Given the description of an element on the screen output the (x, y) to click on. 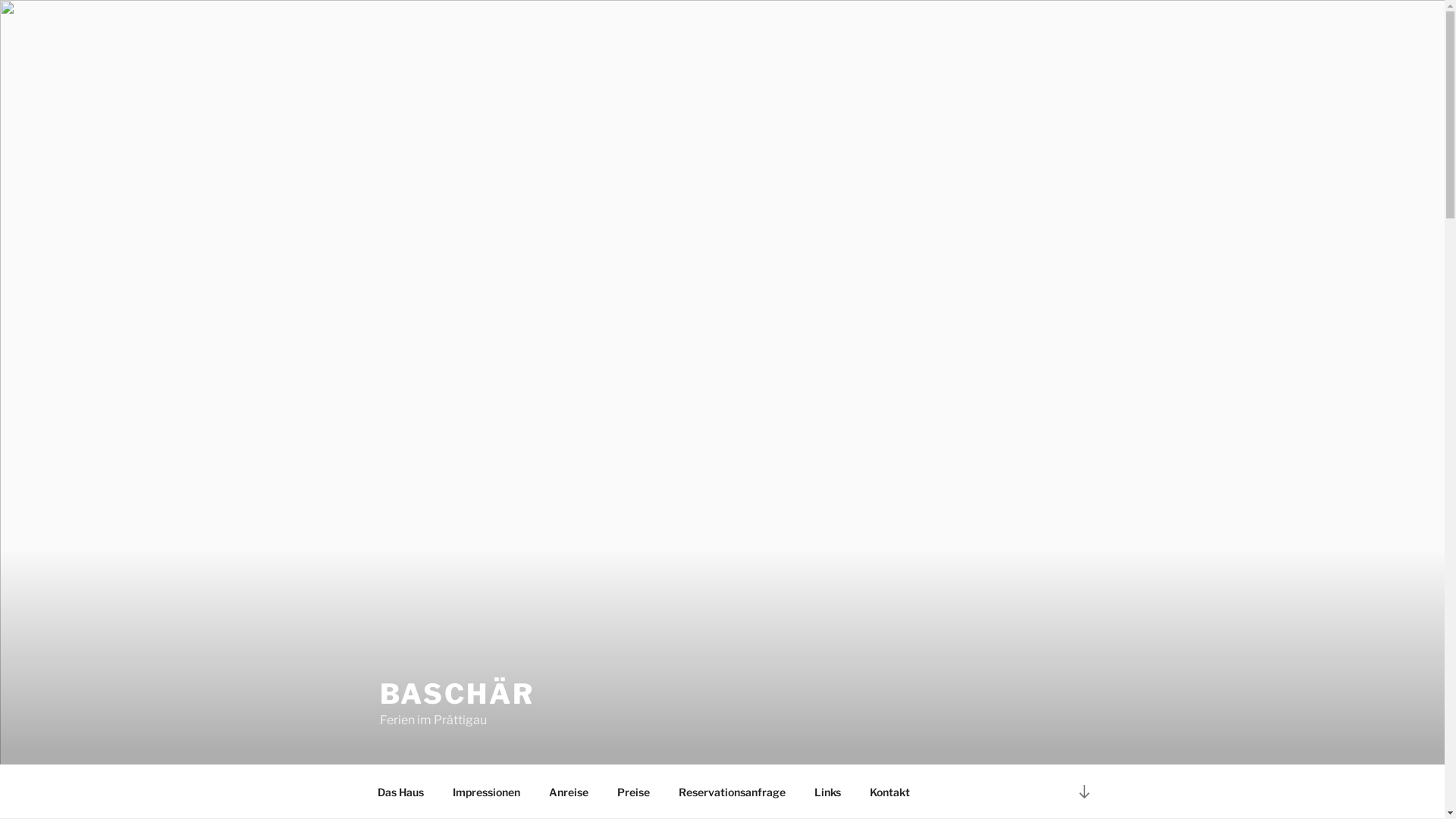
Anreise Element type: text (568, 791)
Zum Inhalt nach unten scrollen Element type: text (1083, 790)
Reservationsanfrage Element type: text (732, 791)
Impressionen Element type: text (486, 791)
Preise Element type: text (632, 791)
Das Haus Element type: text (400, 791)
Kontakt Element type: text (889, 791)
Links Element type: text (826, 791)
